Given the description of an element on the screen output the (x, y) to click on. 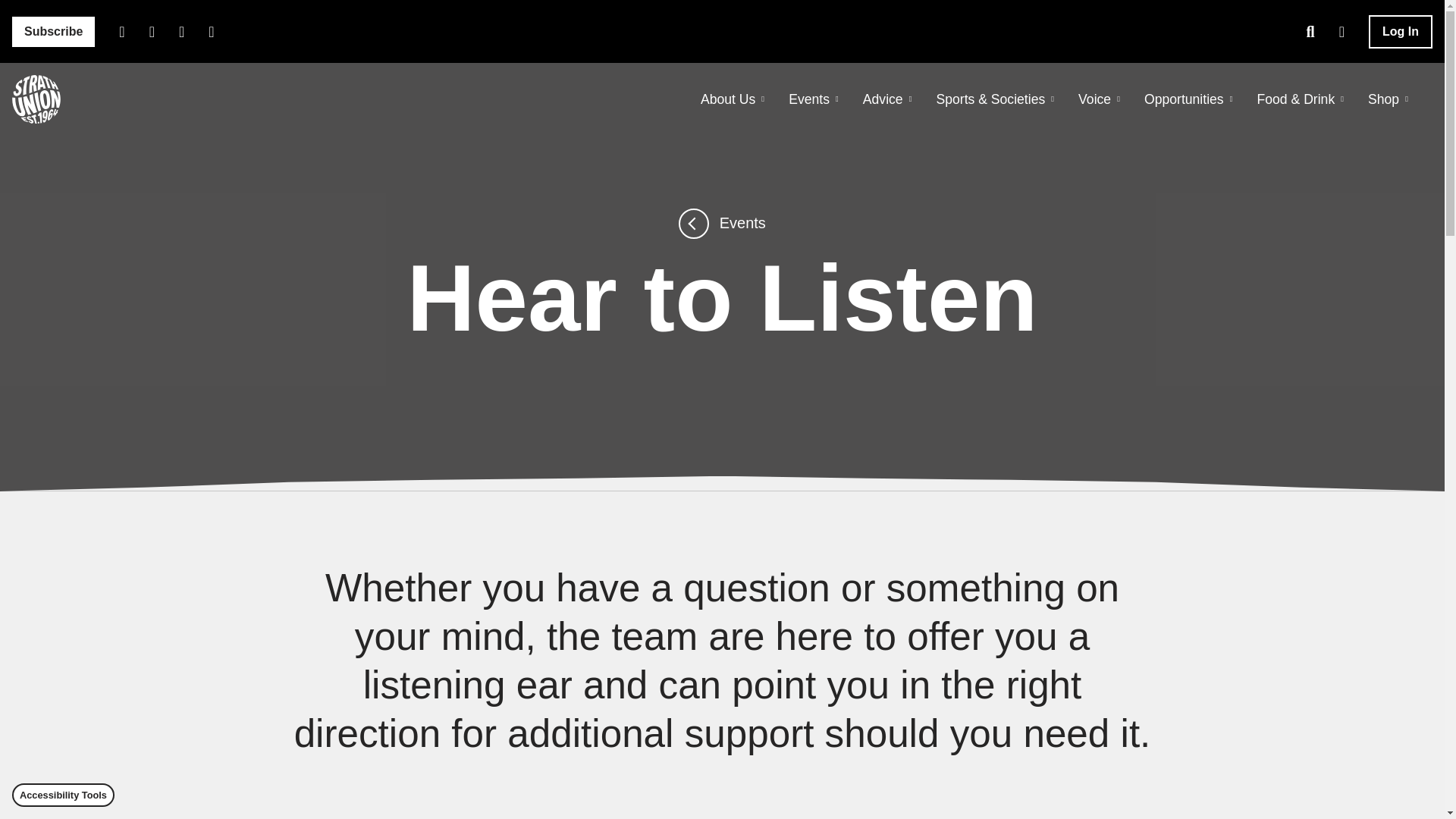
Advice (887, 98)
Events (813, 98)
Follow us on TikTok (210, 30)
Follow us on Instagram (151, 30)
Search (1310, 30)
About Us (732, 98)
Follow us on LinkedIn (181, 30)
Log In (1400, 31)
Follow us on Facebook (121, 30)
Subscribe (52, 31)
